Given the description of an element on the screen output the (x, y) to click on. 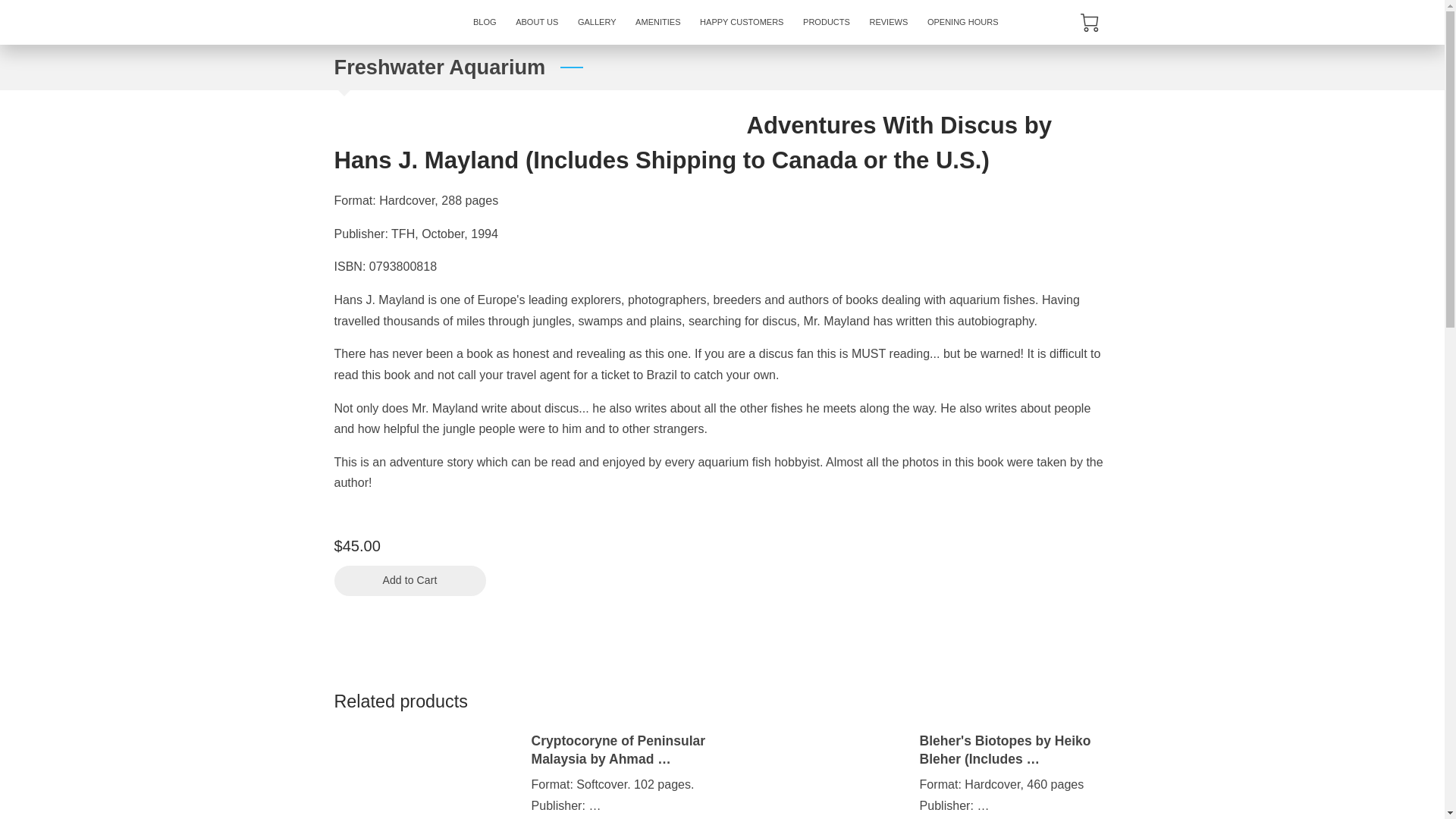
REVIEWS (888, 22)
0 (1088, 22)
BLOG (484, 22)
AMENITIES (658, 22)
ABOUT US (536, 22)
PRODUCTS (826, 22)
Add to Cart (408, 580)
HAPPY CUSTOMERS (741, 22)
OPENING HOURS (962, 22)
GALLERY (596, 22)
